Given the description of an element on the screen output the (x, y) to click on. 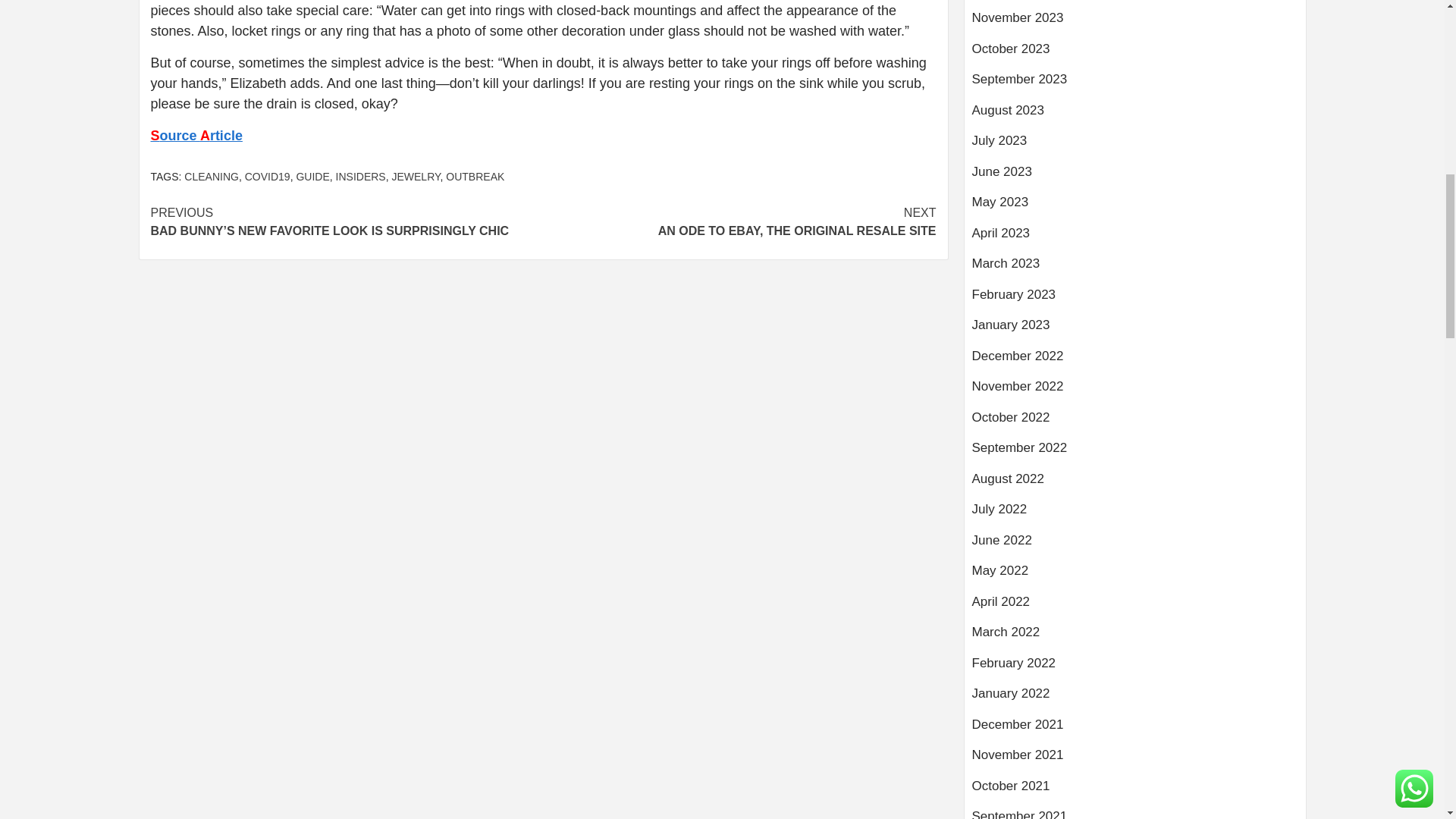
Source Article (195, 135)
OUTBREAK (474, 176)
INSIDERS (360, 176)
JEWELRY (739, 221)
GUIDE (415, 176)
COVID19 (312, 176)
CLEANING (266, 176)
